Given the description of an element on the screen output the (x, y) to click on. 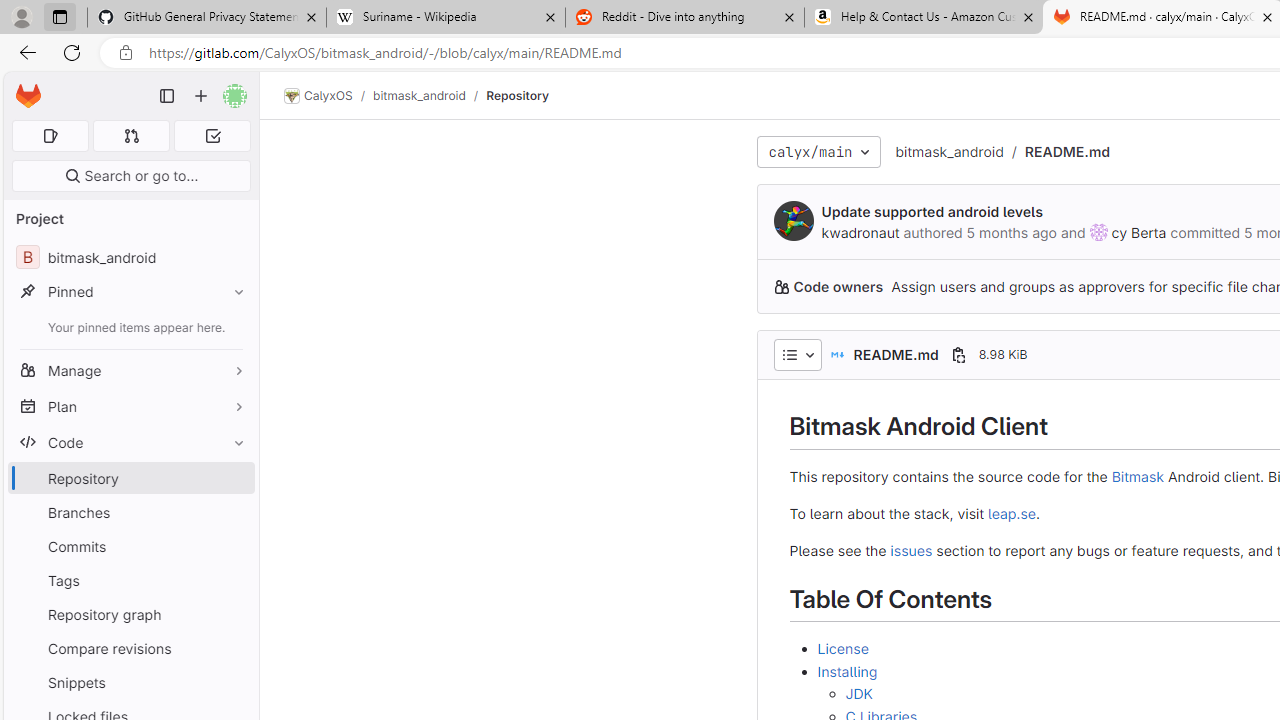
License (842, 649)
Pinned (130, 291)
Update supported android levels (932, 211)
Primary navigation sidebar (167, 96)
Create new... (201, 96)
kwadronaut's avatar (793, 220)
Pin Repository graph (234, 614)
Repository graph (130, 614)
Compare revisions (130, 648)
Repository (518, 95)
leap.se (1010, 512)
Branches (130, 512)
